Given the description of an element on the screen output the (x, y) to click on. 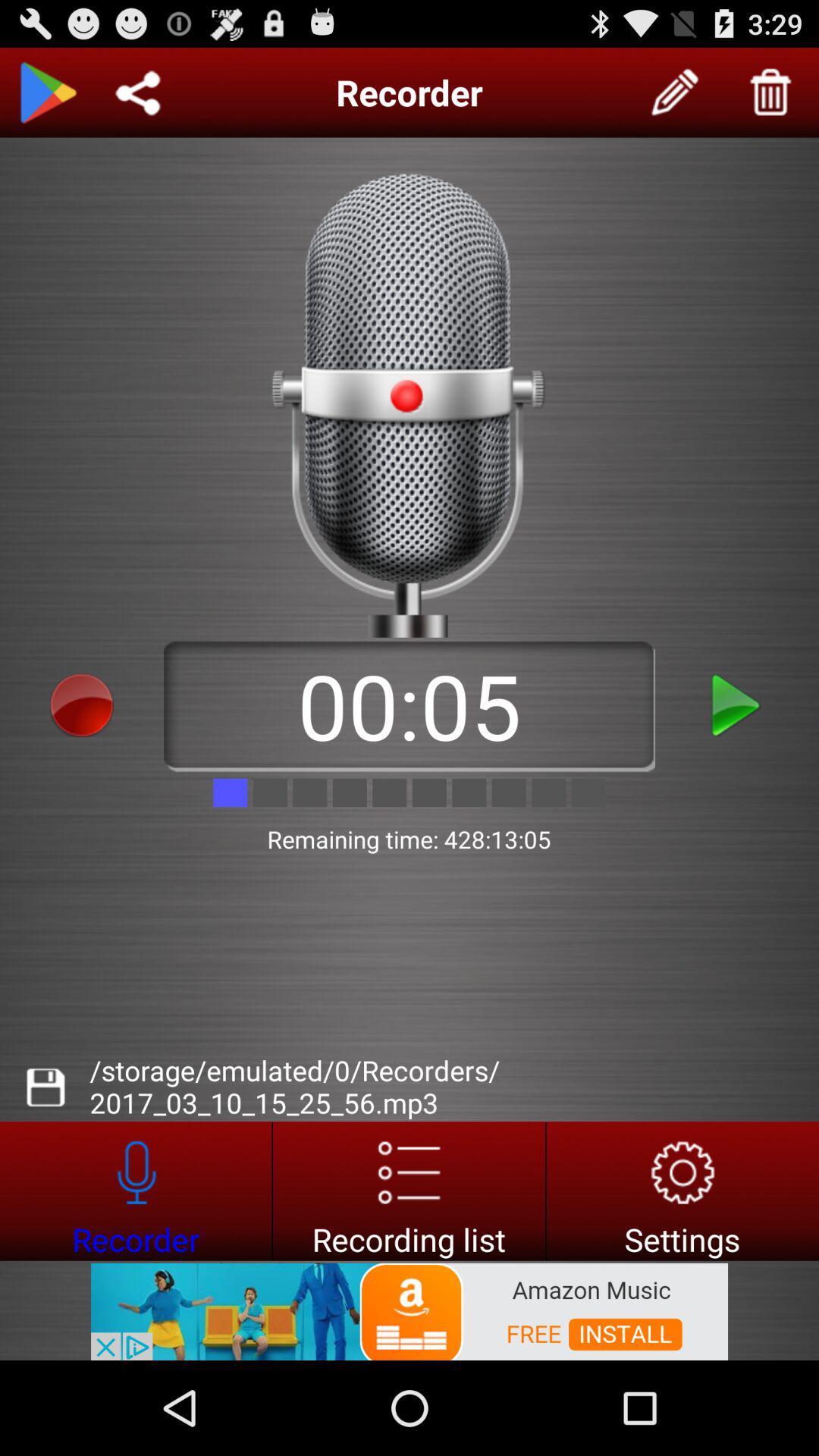
delete this record (771, 92)
